Given the description of an element on the screen output the (x, y) to click on. 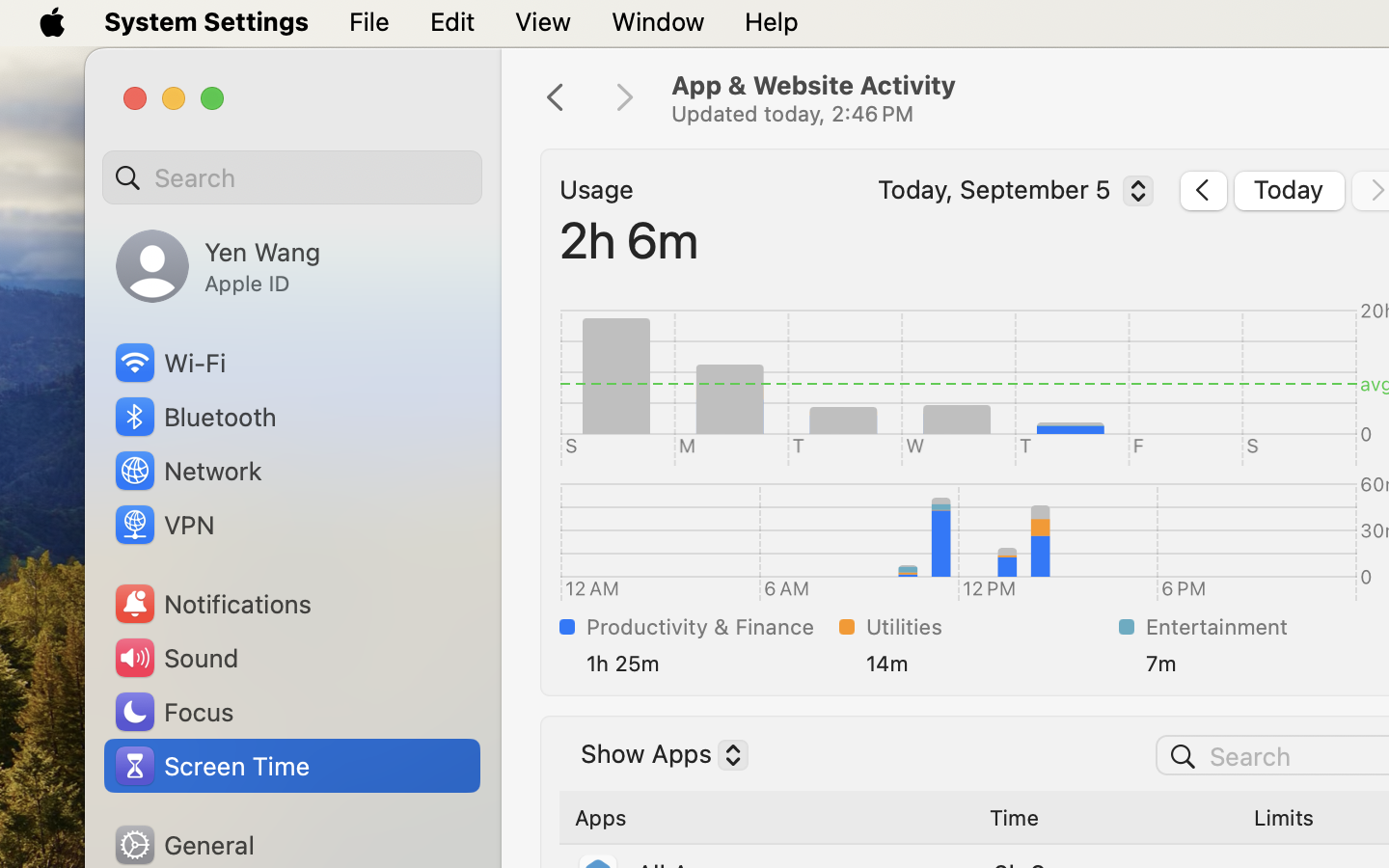
VPN Element type: AXStaticText (162, 524)
1h 25m Element type: AXStaticText (708, 663)
General Element type: AXStaticText (182, 844)
Notifications Element type: AXStaticText (211, 603)
Today, September 5 Element type: AXPopUpButton (1010, 193)
